Given the description of an element on the screen output the (x, y) to click on. 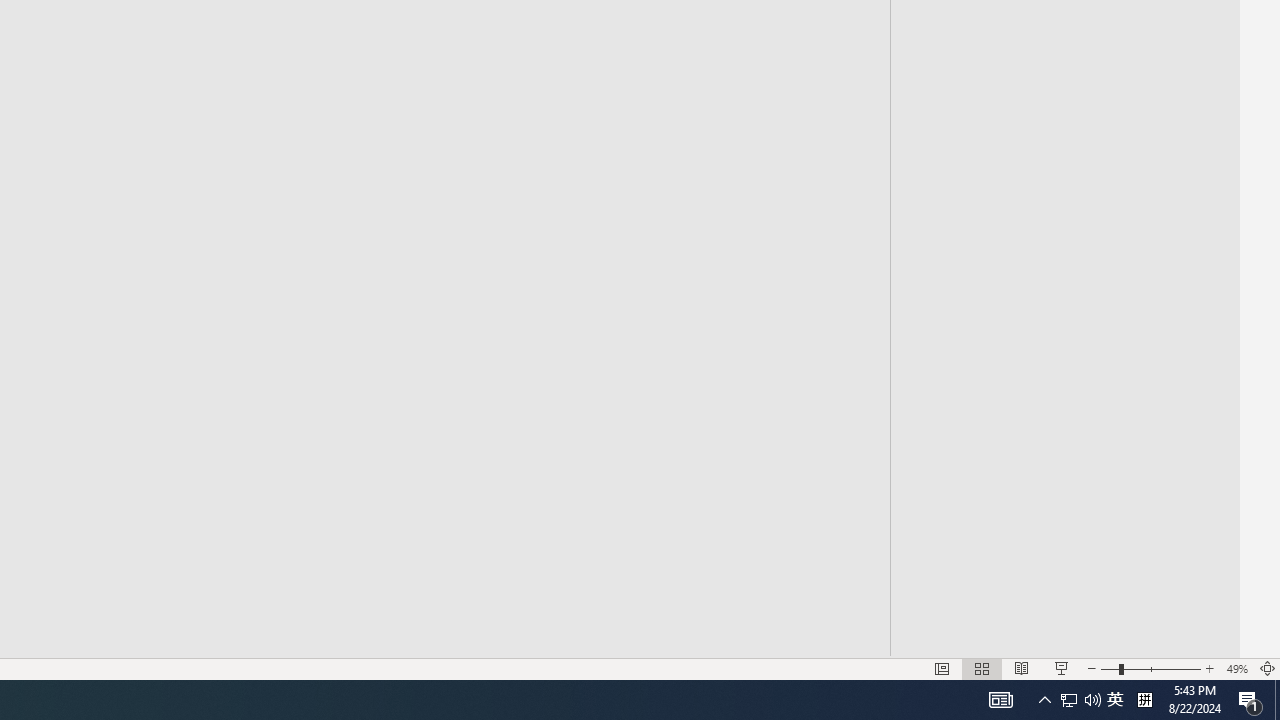
Zoom 49% (1236, 668)
